Given the description of an element on the screen output the (x, y) to click on. 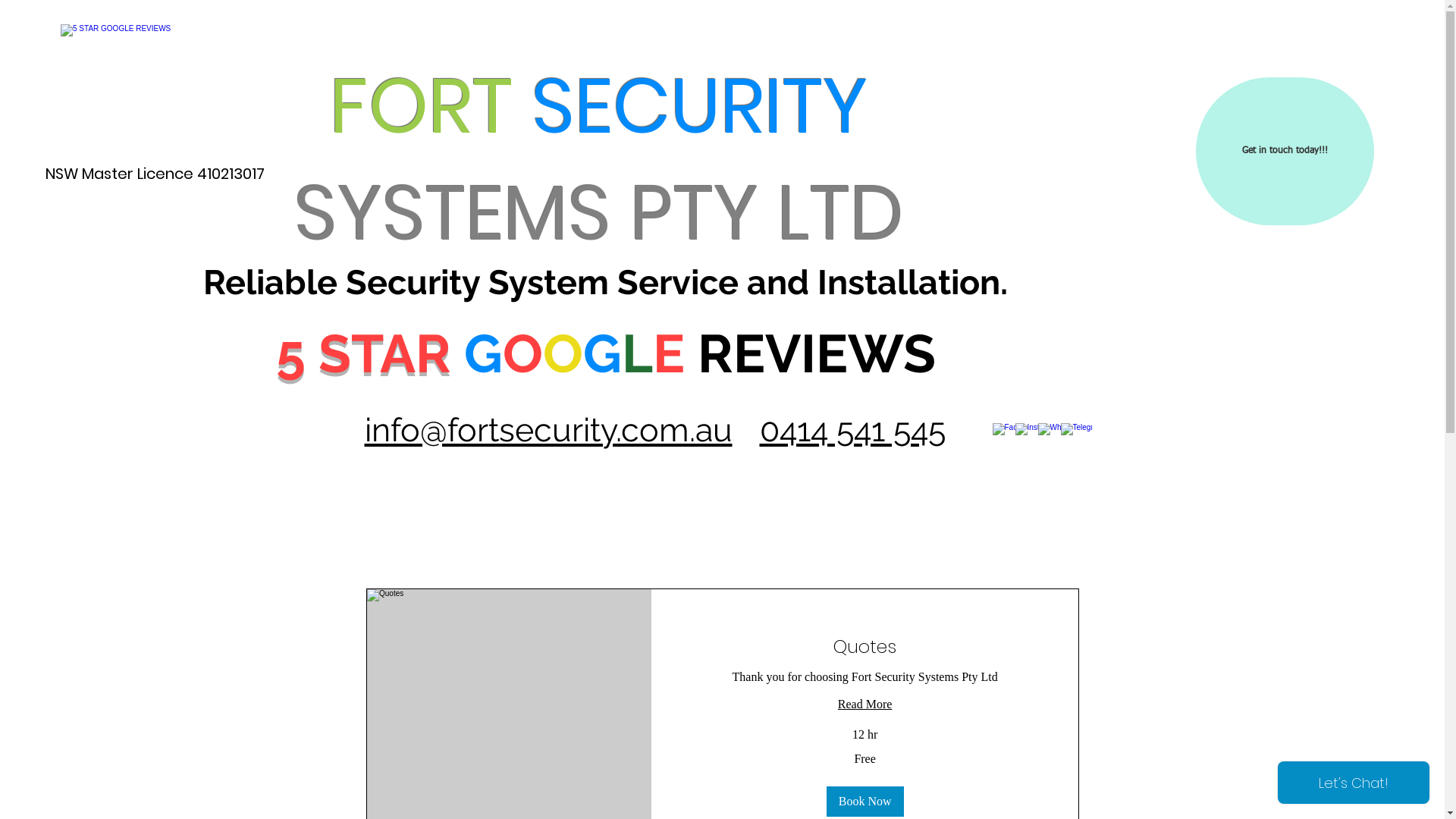
Book Now Element type: text (864, 801)
NSW Master Licence 410213017 Element type: text (154, 173)
FORT Element type: text (420, 106)
Get in touch today!!! Element type: text (1284, 151)
info@fortsecurity.com.au Element type: text (547, 429)
SECURITY Element type: text (699, 106)
Quotes Element type: text (864, 646)
0414 541 545 Element type: text (852, 429)
SYSTEMS PTY LTD Element type: text (598, 213)
Read More Element type: text (864, 704)
